Given the description of an element on the screen output the (x, y) to click on. 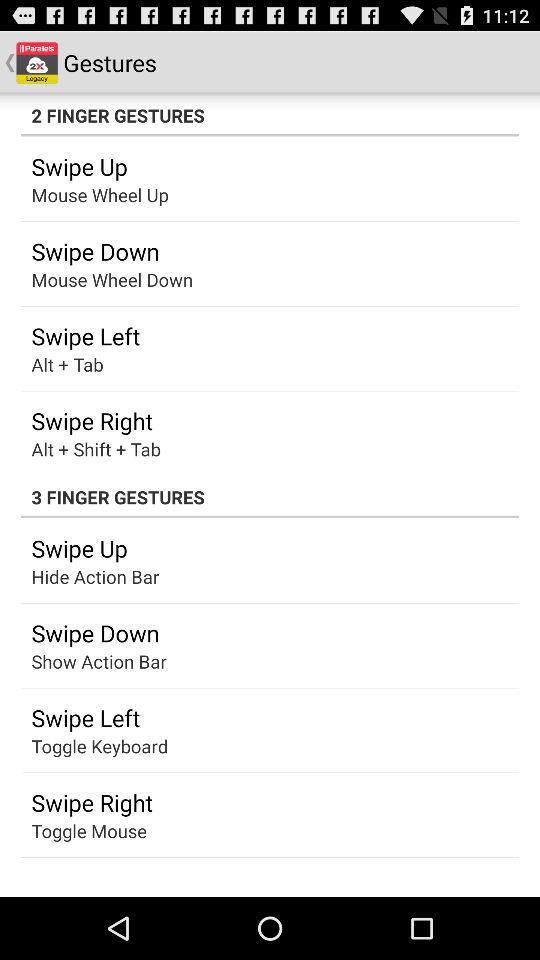
choose item above the swipe right icon (99, 745)
